Given the description of an element on the screen output the (x, y) to click on. 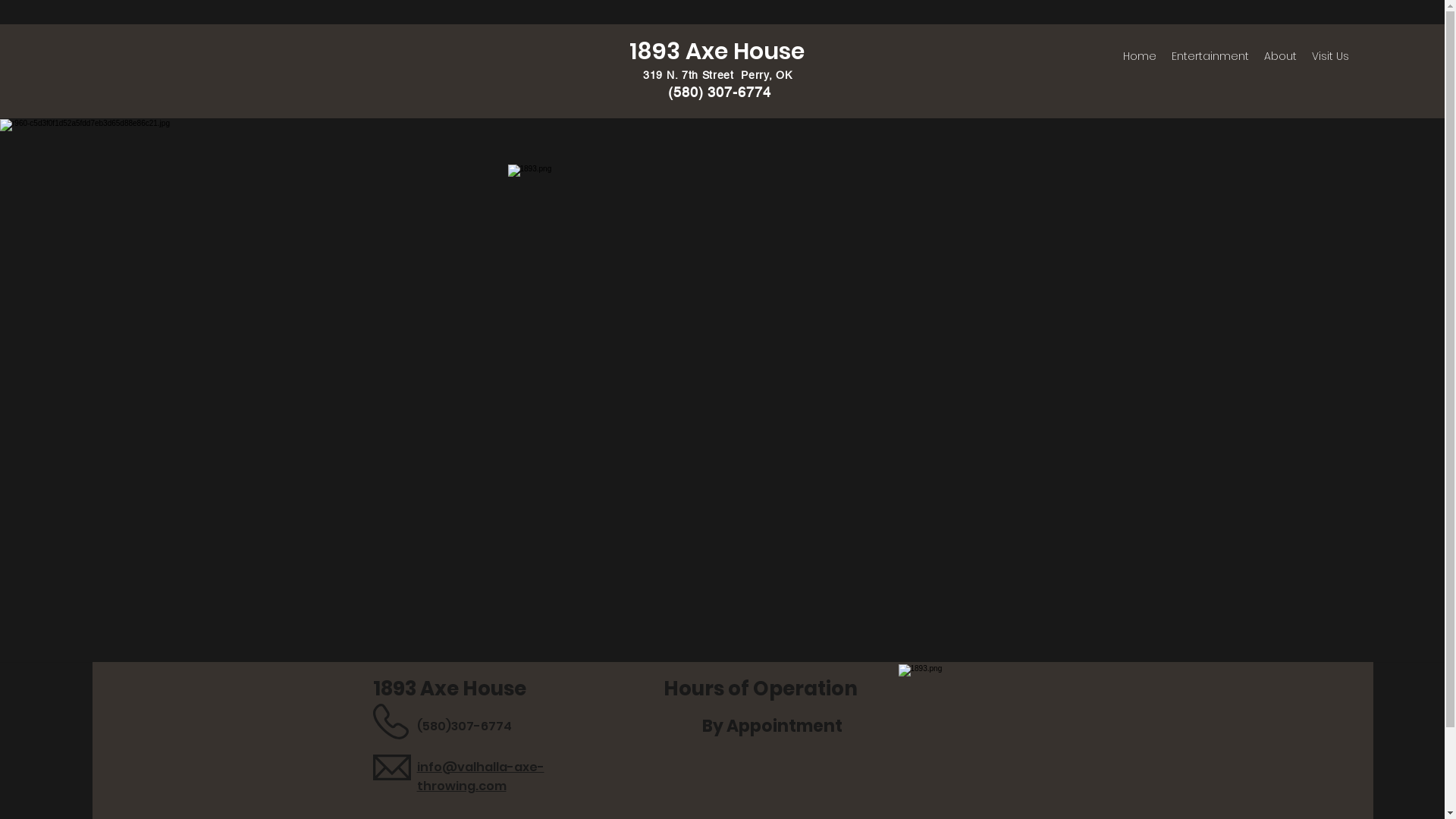
Home Element type: text (1139, 55)
About Element type: text (1280, 55)
Visit Us Element type: text (1330, 55)
Entertainment Element type: text (1210, 55)
1893 Axe House Element type: text (716, 51)
info@valhalla-axe-throwing.com Element type: text (480, 776)
